Given the description of an element on the screen output the (x, y) to click on. 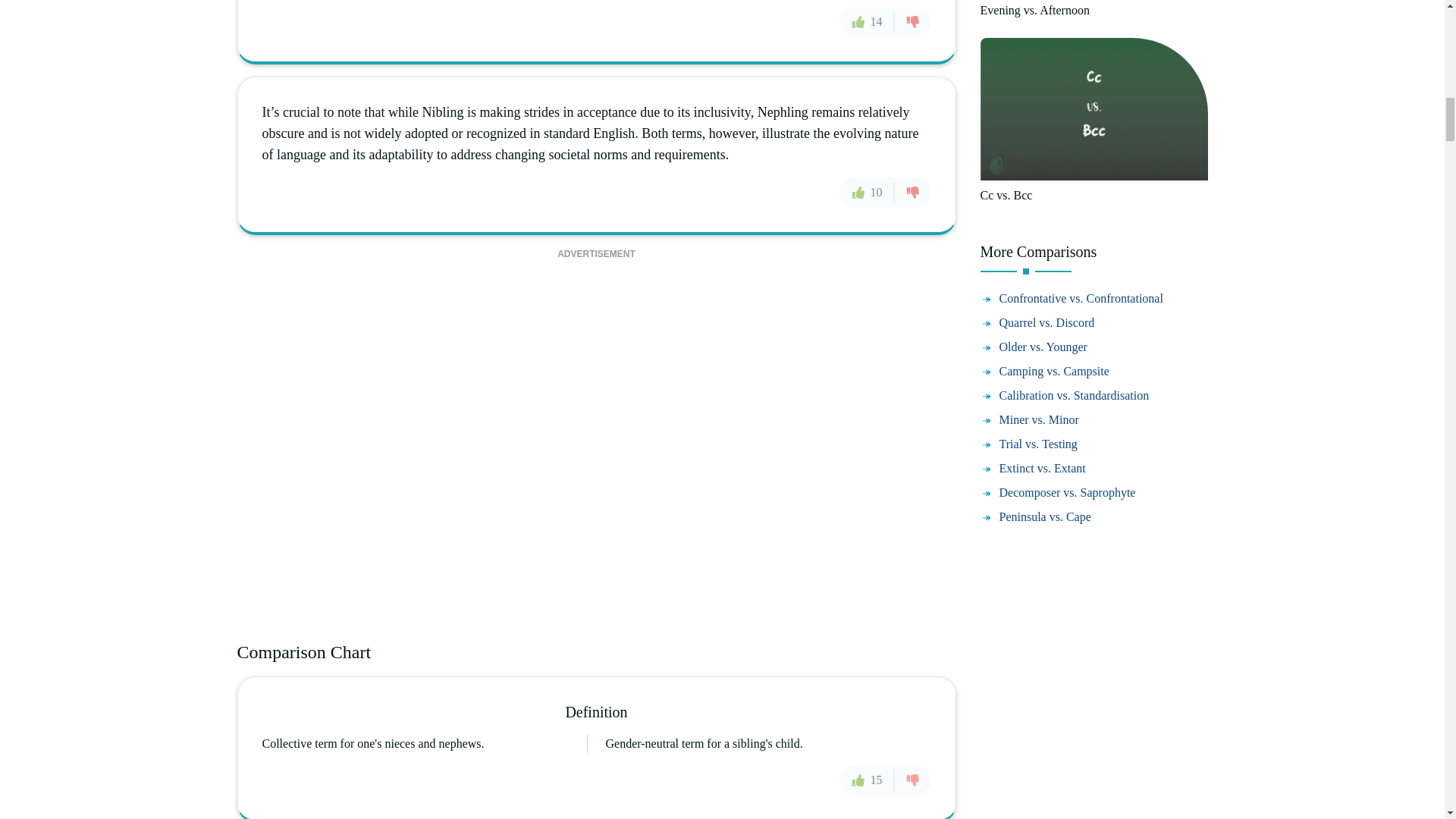
10 (867, 192)
15 (867, 779)
14 (867, 20)
